Given the description of an element on the screen output the (x, y) to click on. 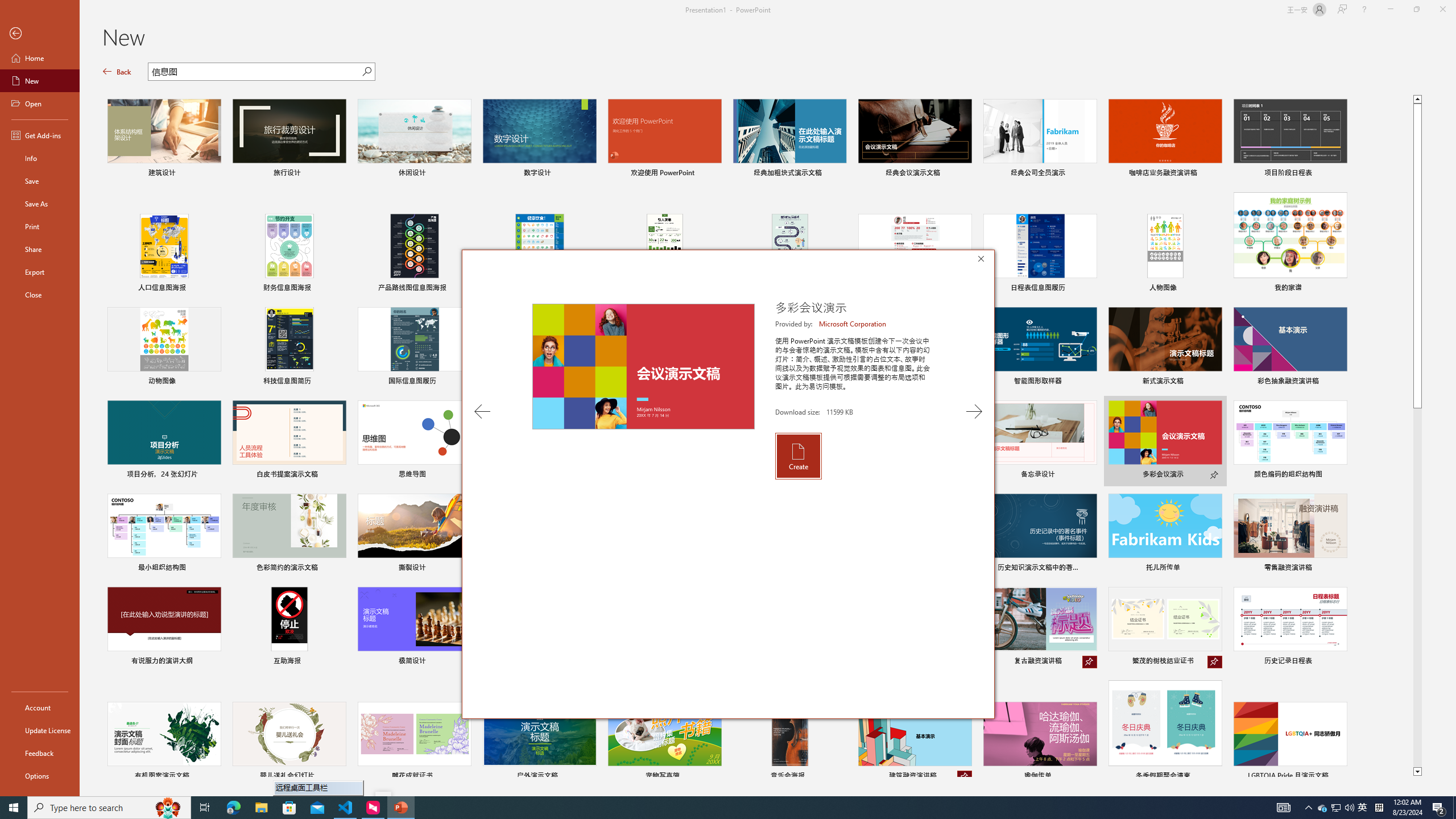
Save As (40, 203)
Notification Chevron (1308, 807)
Task View (204, 807)
Info (40, 157)
Class: NetUIScrollBar (1450, 428)
Unpin from list (964, 776)
Account (1322, 807)
Line down (40, 707)
